Given the description of an element on the screen output the (x, y) to click on. 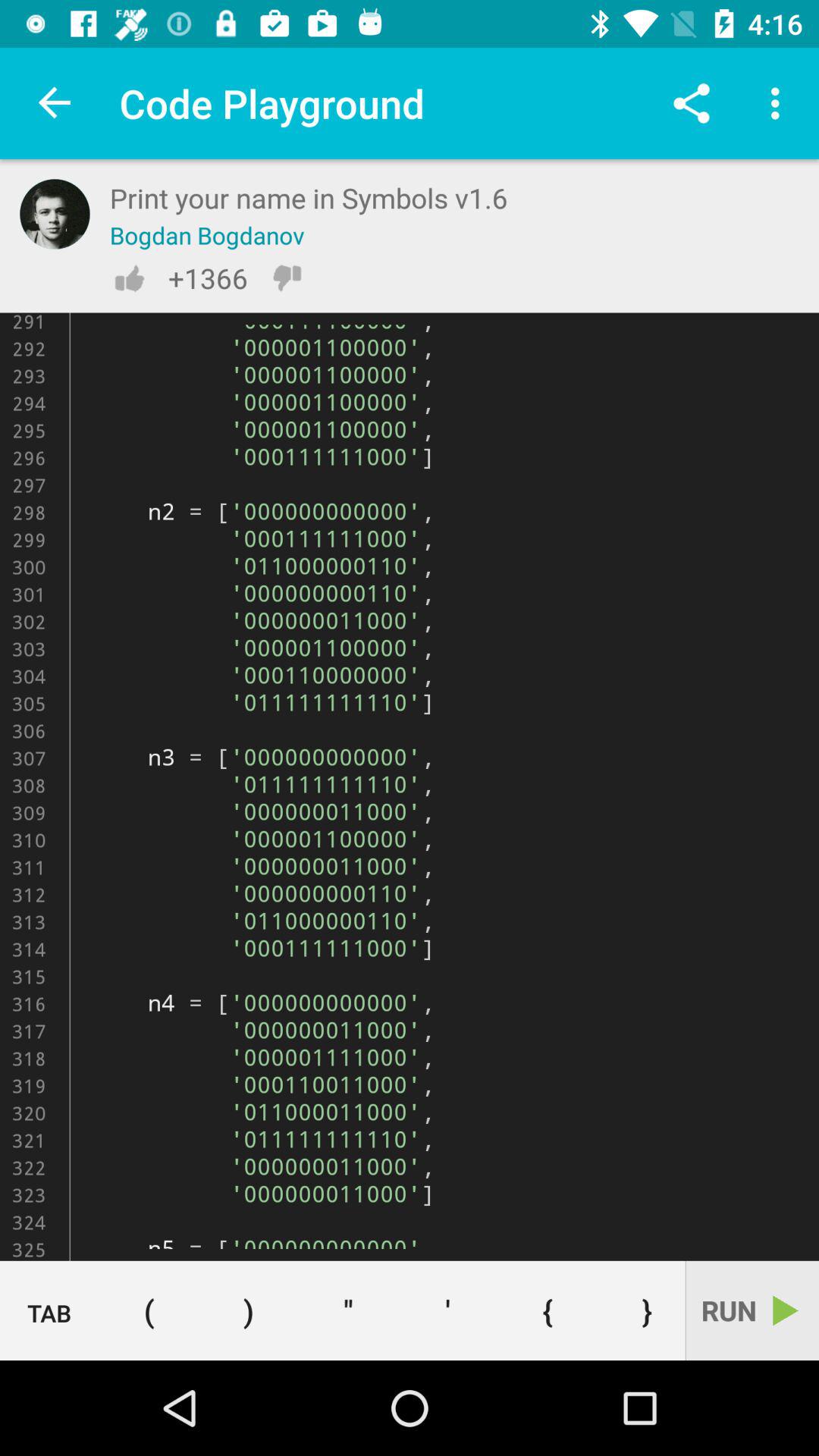
down vote option (286, 277)
